Given the description of an element on the screen output the (x, y) to click on. 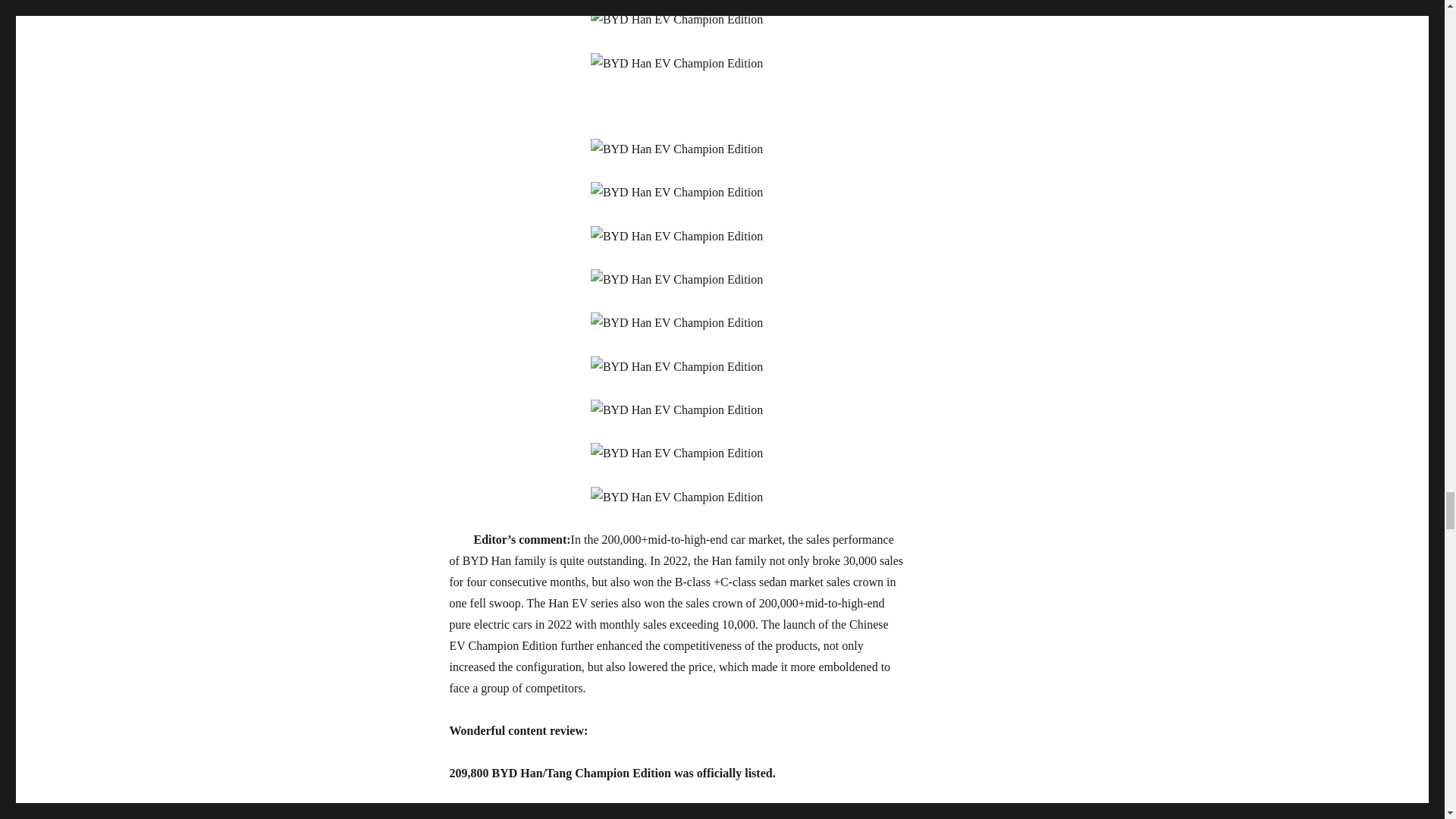
BYD Han EV Champion Edition (676, 409)
BYD Han EV Champion Edition (676, 322)
BYD Han EV Champion Edition (676, 19)
BYD Han EV Champion Edition (676, 148)
BYD Han EV Champion Edition (676, 63)
BYD Han EV Champion Edition (676, 192)
BYD Han EV Champion Edition (676, 366)
BYD Han EV Champion Edition (676, 236)
BYD Han EV Champion Edition (676, 279)
BYD Han EV Champion Edition (676, 453)
BYD Han EV Champion Edition (676, 496)
